Given the description of an element on the screen output the (x, y) to click on. 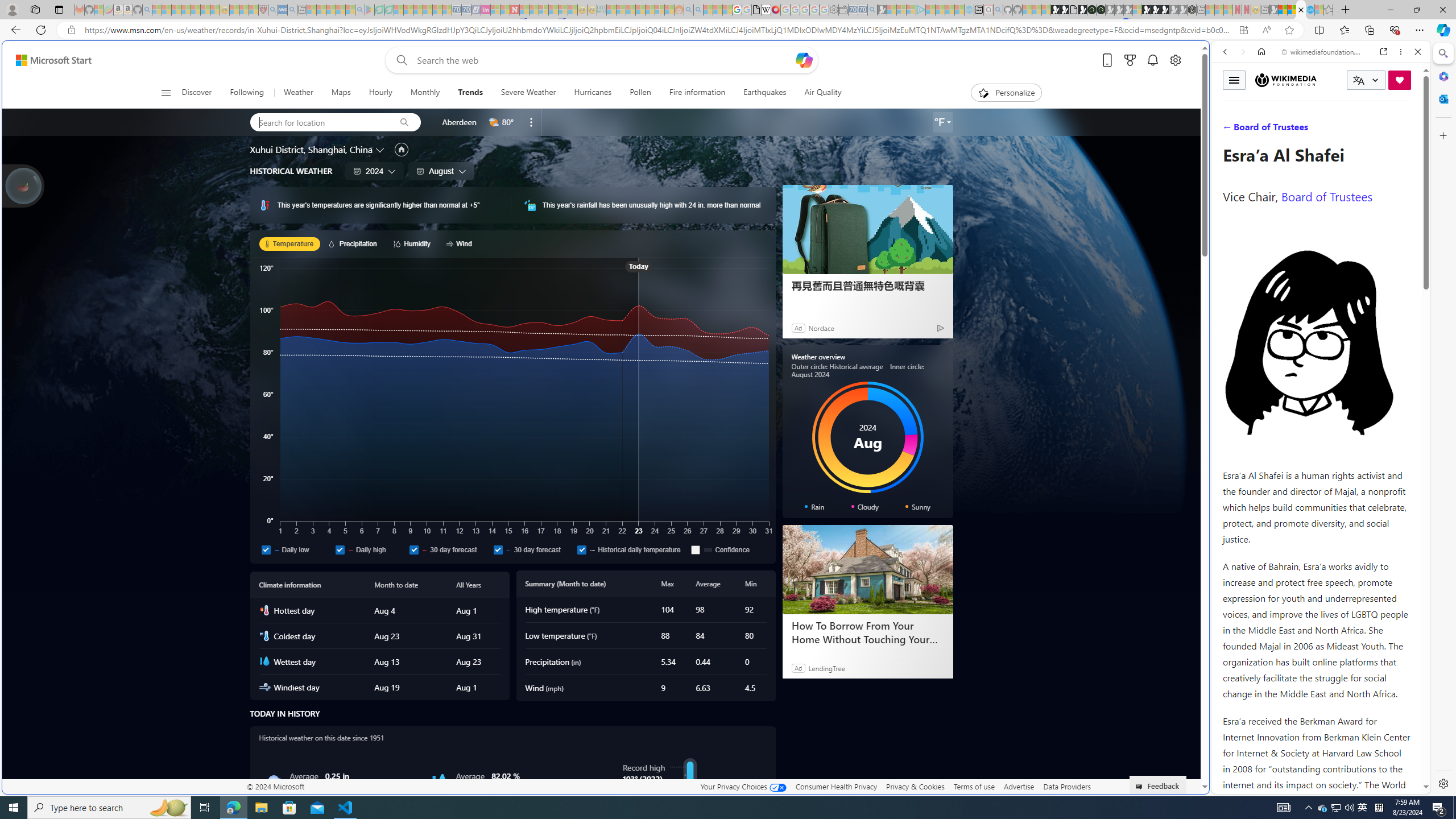
Earthquakes (765, 92)
Services - Maintenance | Sky Blue Bikes - Sky Blue Bikes (1309, 9)
Target page - Wikipedia (766, 9)
Hurricanes (592, 92)
